Given the description of an element on the screen output the (x, y) to click on. 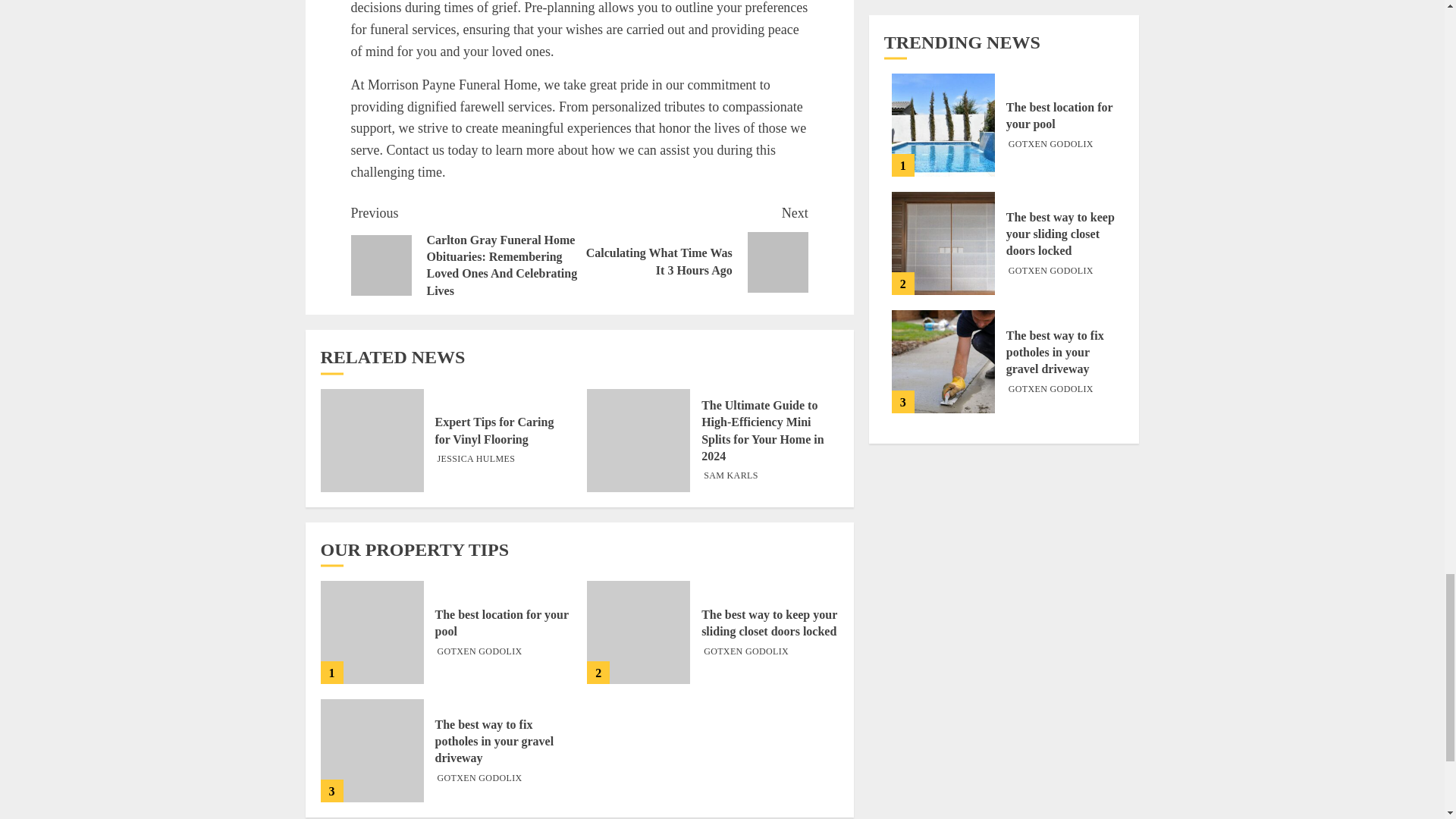
GOTXEN GODOLIX (478, 652)
The best way to keep your sliding closet doors locked (638, 631)
GOTXEN GODOLIX (746, 652)
The best location for your pool (502, 623)
The best location for your pool (371, 631)
GOTXEN GODOLIX (478, 778)
SAM KARLS (693, 247)
JESSICA HULMES (730, 476)
The best way to fix potholes in your gravel driveway (475, 459)
Expert Tips for Caring for Vinyl Flooring (494, 741)
The best way to keep your sliding closet doors locked (371, 440)
